Given the description of an element on the screen output the (x, y) to click on. 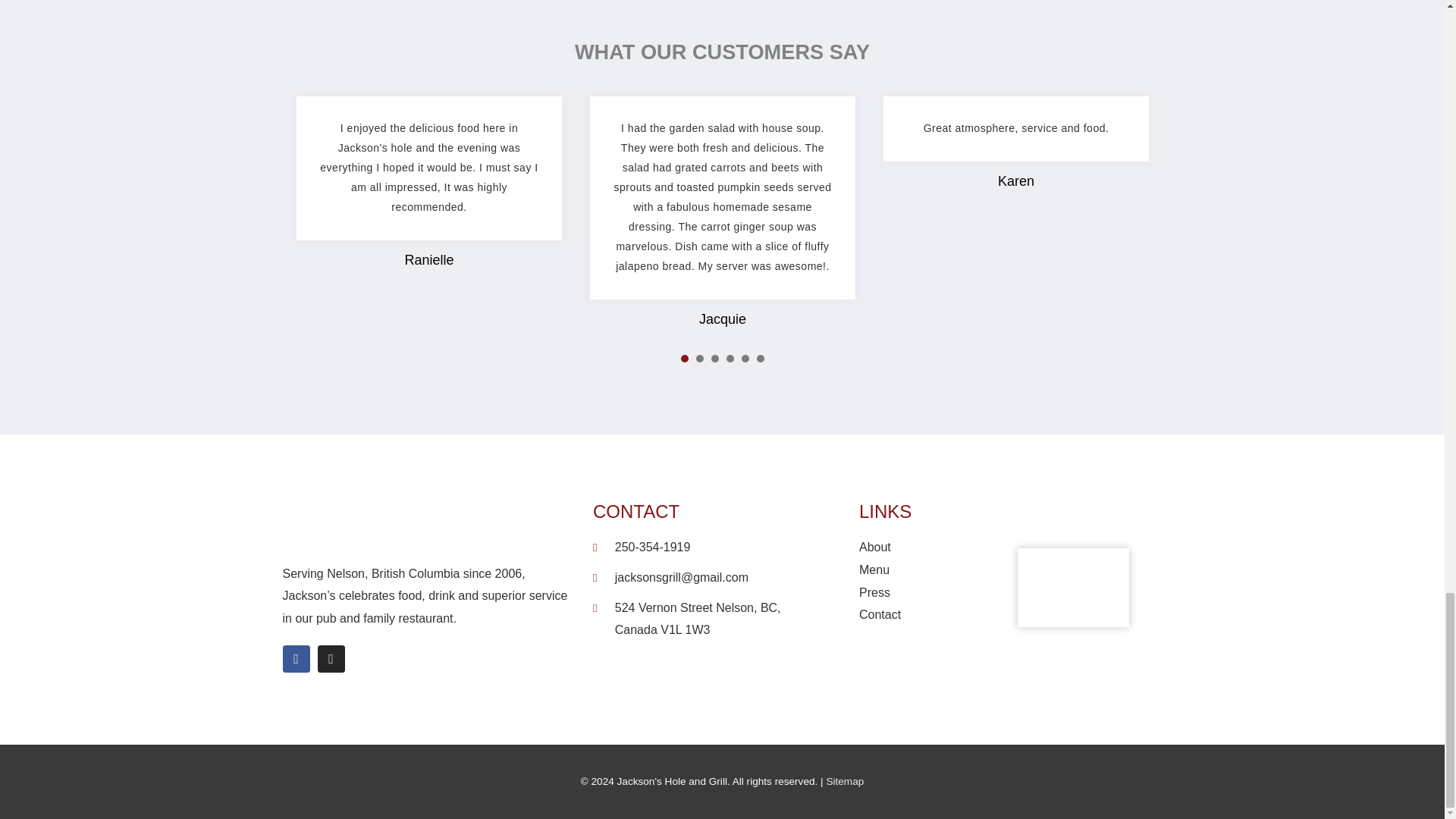
Press (914, 592)
About (914, 547)
250-354-1919 (706, 547)
Sitemap (844, 781)
Menu (914, 569)
Contact (914, 614)
